Given the description of an element on the screen output the (x, y) to click on. 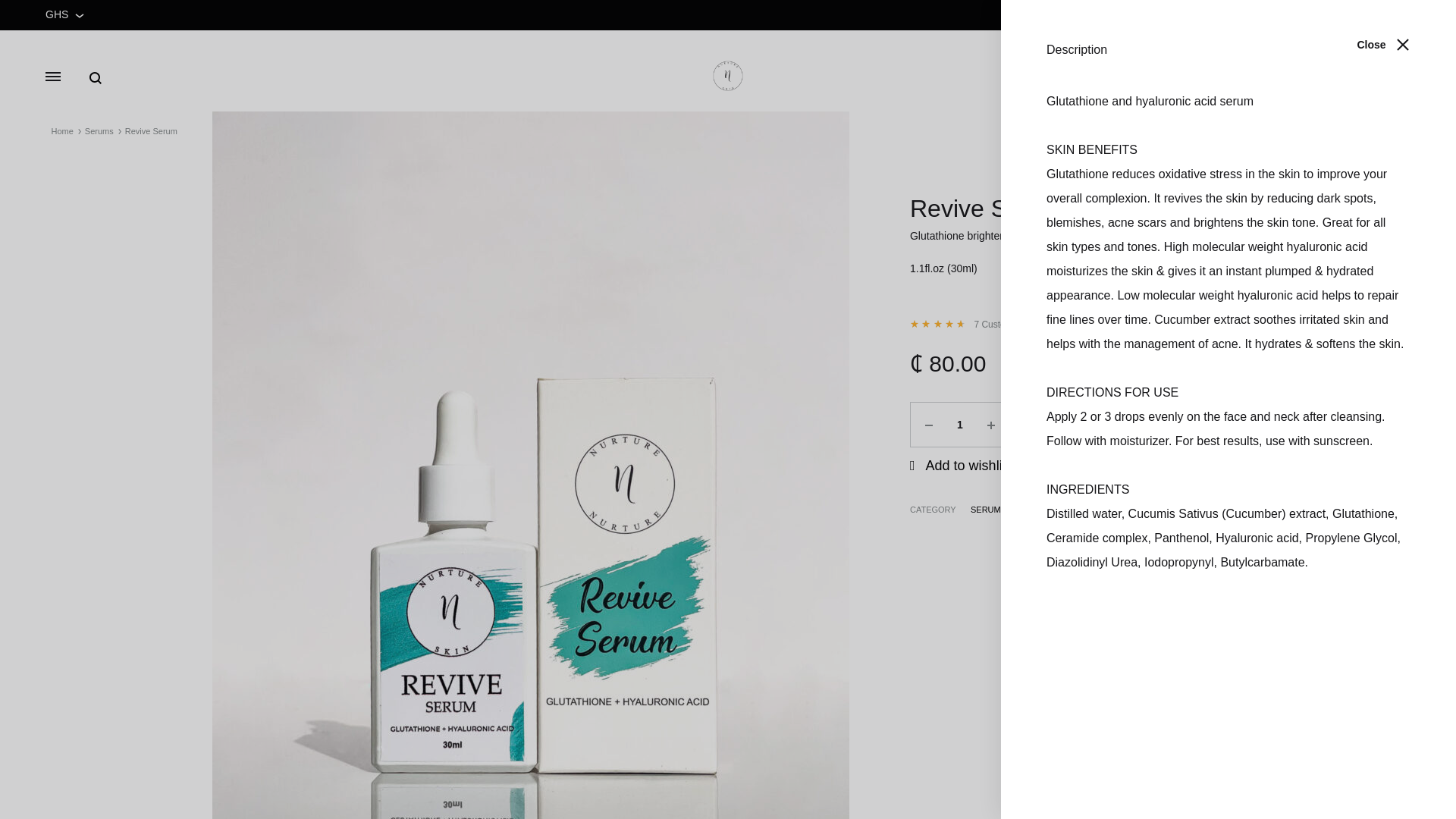
Add to wishlist (961, 465)
Serums (98, 130)
Sign in (1338, 75)
7 Customer Reviews (1016, 324)
PREV (1347, 131)
SERUMS (988, 509)
Home (62, 130)
ADD TO CART (1117, 424)
NEXT (1393, 131)
